Given the description of an element on the screen output the (x, y) to click on. 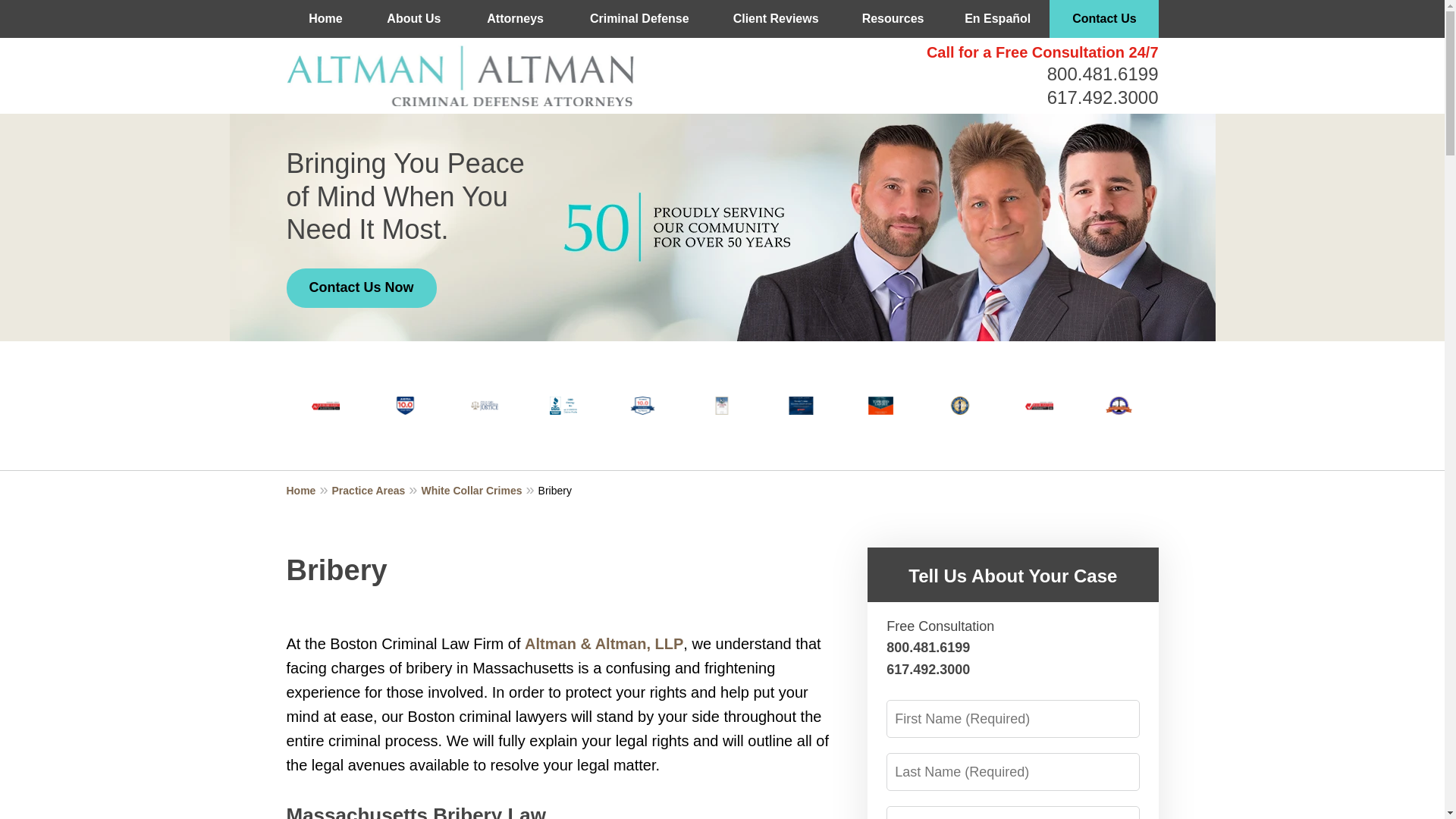
Contact Us Now (361, 287)
White Collar Crimes (478, 490)
Resources (892, 18)
Home (308, 490)
800.481.6199 (1102, 73)
Criminal Defense (639, 18)
About Us (414, 18)
Client Reviews (775, 18)
Practice Areas (376, 490)
Contact Us (1103, 18)
Attorneys (515, 18)
617.492.3000 (1102, 96)
Home (325, 18)
